Given the description of an element on the screen output the (x, y) to click on. 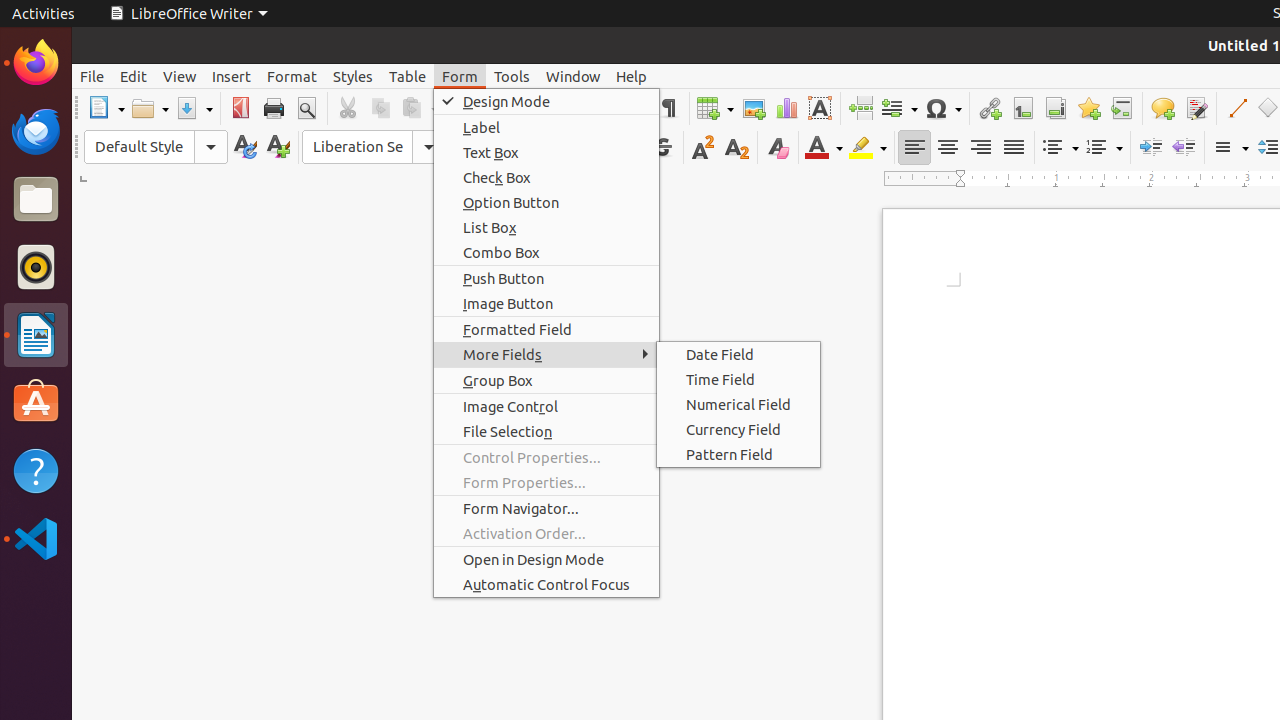
Numerical Field Element type: check-menu-item (738, 404)
Print Preview Element type: toggle-button (306, 108)
Visual Studio Code Element type: push-button (36, 538)
Check Box Element type: check-menu-item (546, 177)
Option Button Element type: check-menu-item (546, 202)
